Given the description of an element on the screen output the (x, y) to click on. 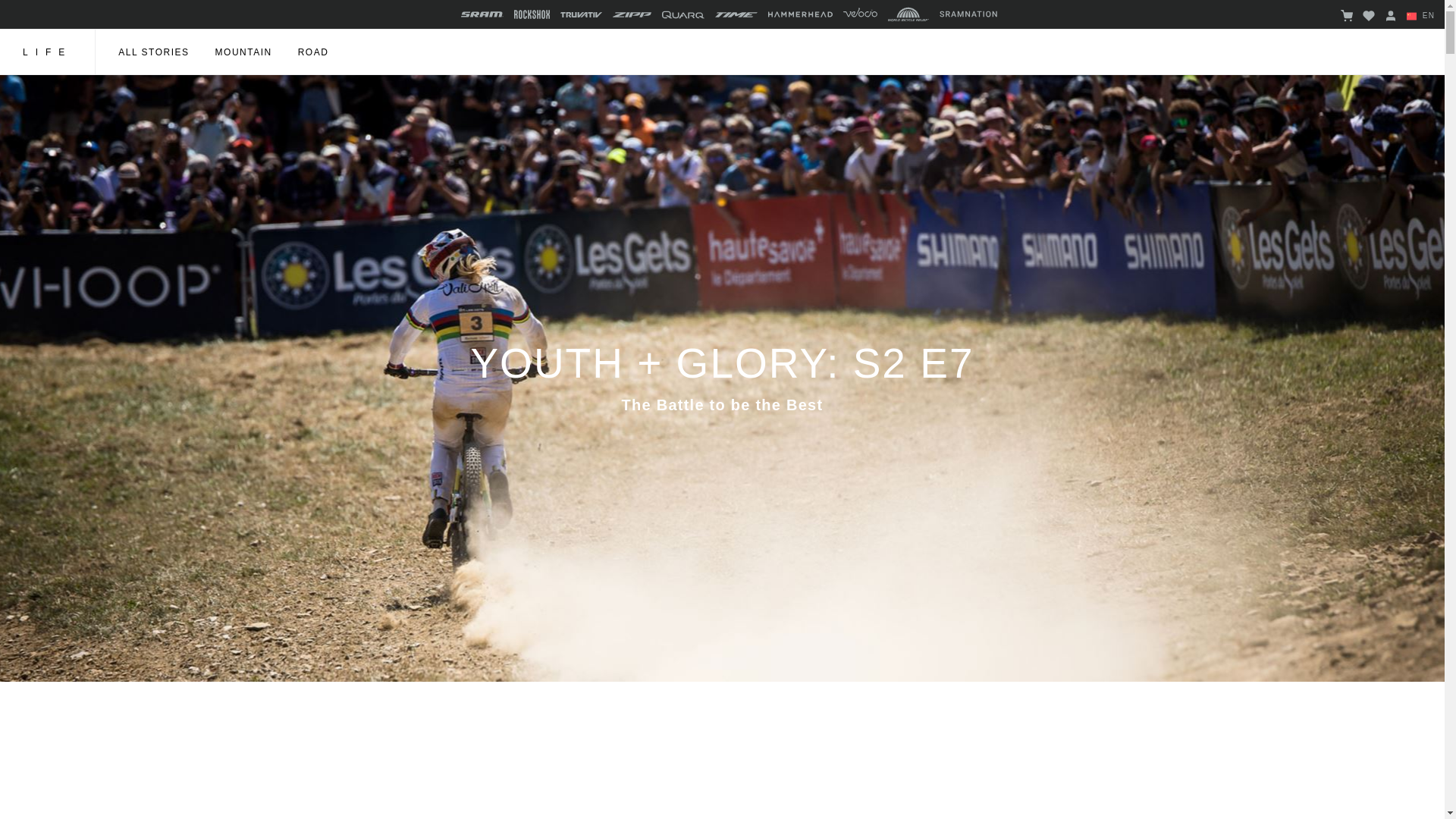
World Bicycle Relief (908, 14)
Cart (1346, 16)
All Stories Link (153, 51)
Velocio (860, 14)
LIFE (47, 51)
Sram (482, 14)
Mountain Link (243, 51)
Sramnation (968, 18)
My Wishlist (1368, 16)
MOUNTAIN (243, 51)
